Given the description of an element on the screen output the (x, y) to click on. 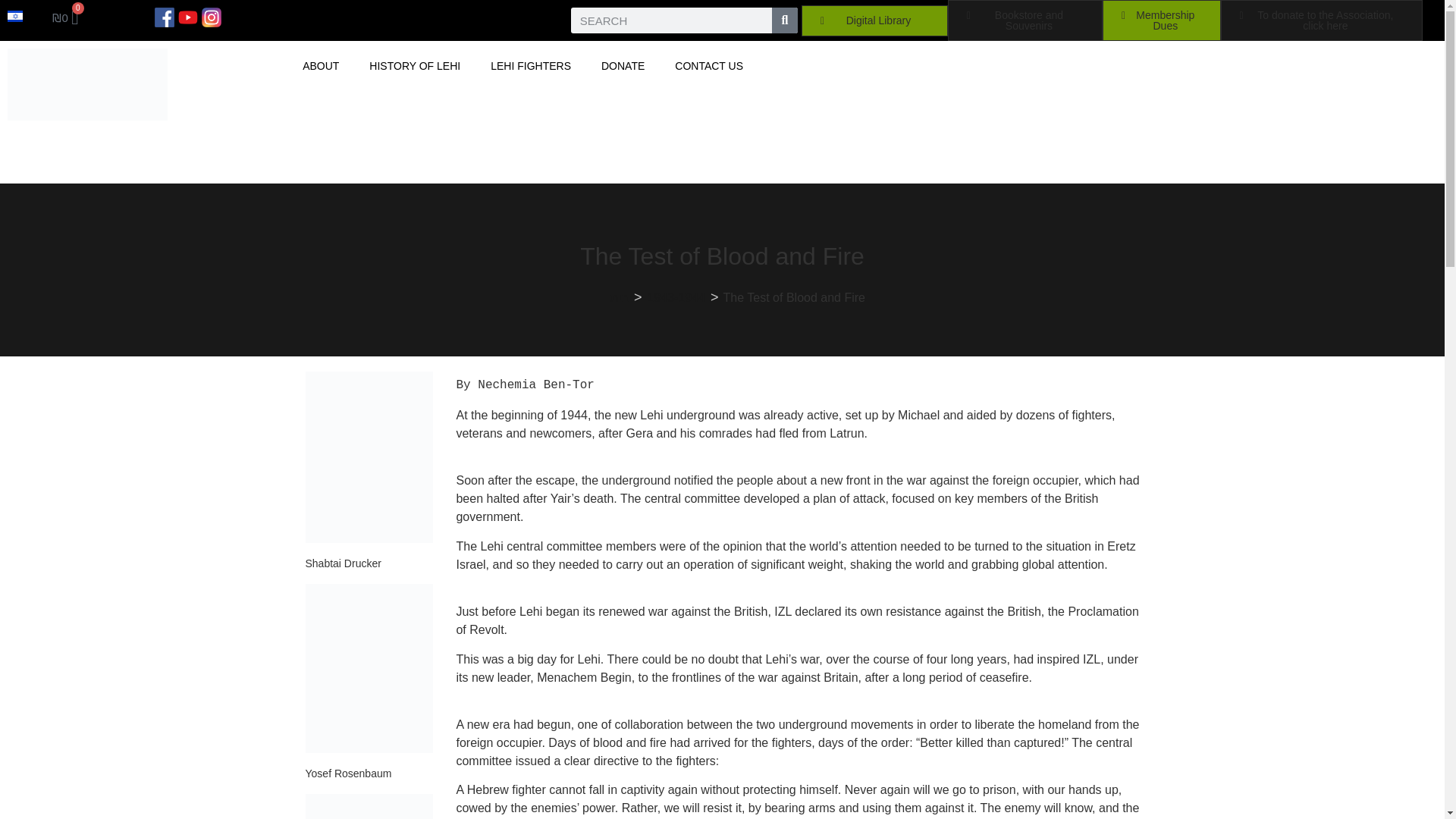
ABOUT (319, 65)
The Test of Blood and Fire (793, 297)
Digital Library (874, 20)
1943-1944 (676, 297)
To donate to the Association, click here (1322, 20)
LEHI FIGHTERS (531, 65)
DONATE (622, 65)
HISTORY OF LEHI (414, 65)
CONTACT US (708, 65)
Bookstore and Souvenirs (1024, 20)
Membership Dues (1161, 20)
